Given the description of an element on the screen output the (x, y) to click on. 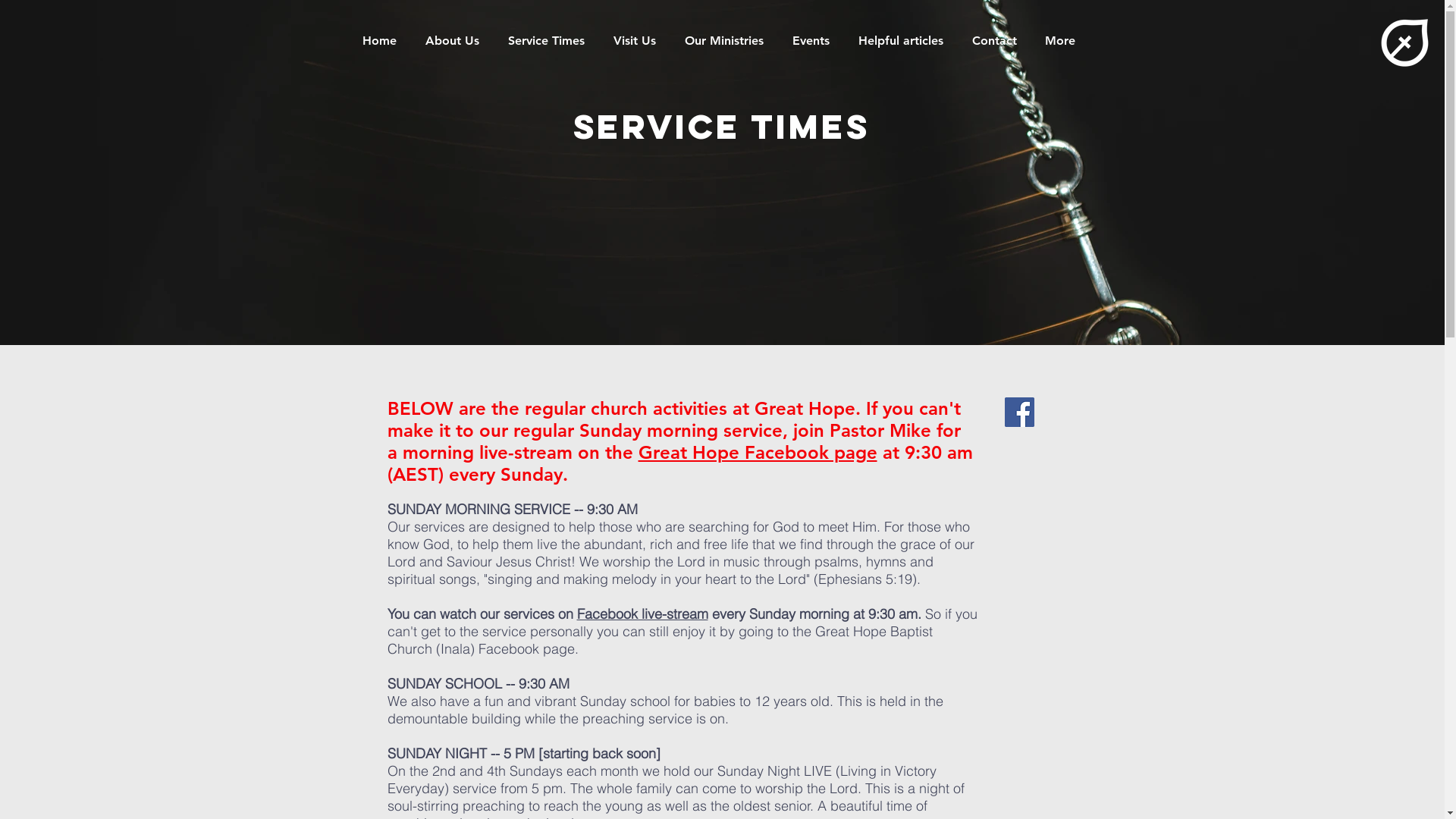
Our Ministries Element type: text (727, 40)
Events Element type: text (814, 40)
Helpful articles Element type: text (903, 40)
About Us Element type: text (455, 40)
Facebook live-stream Element type: text (641, 613)
Home Element type: text (381, 40)
Great Hope Facebook page Element type: text (757, 452)
Contact Element type: text (996, 40)
Visit Us Element type: text (637, 40)
Service Times Element type: text (548, 40)
